Given the description of an element on the screen output the (x, y) to click on. 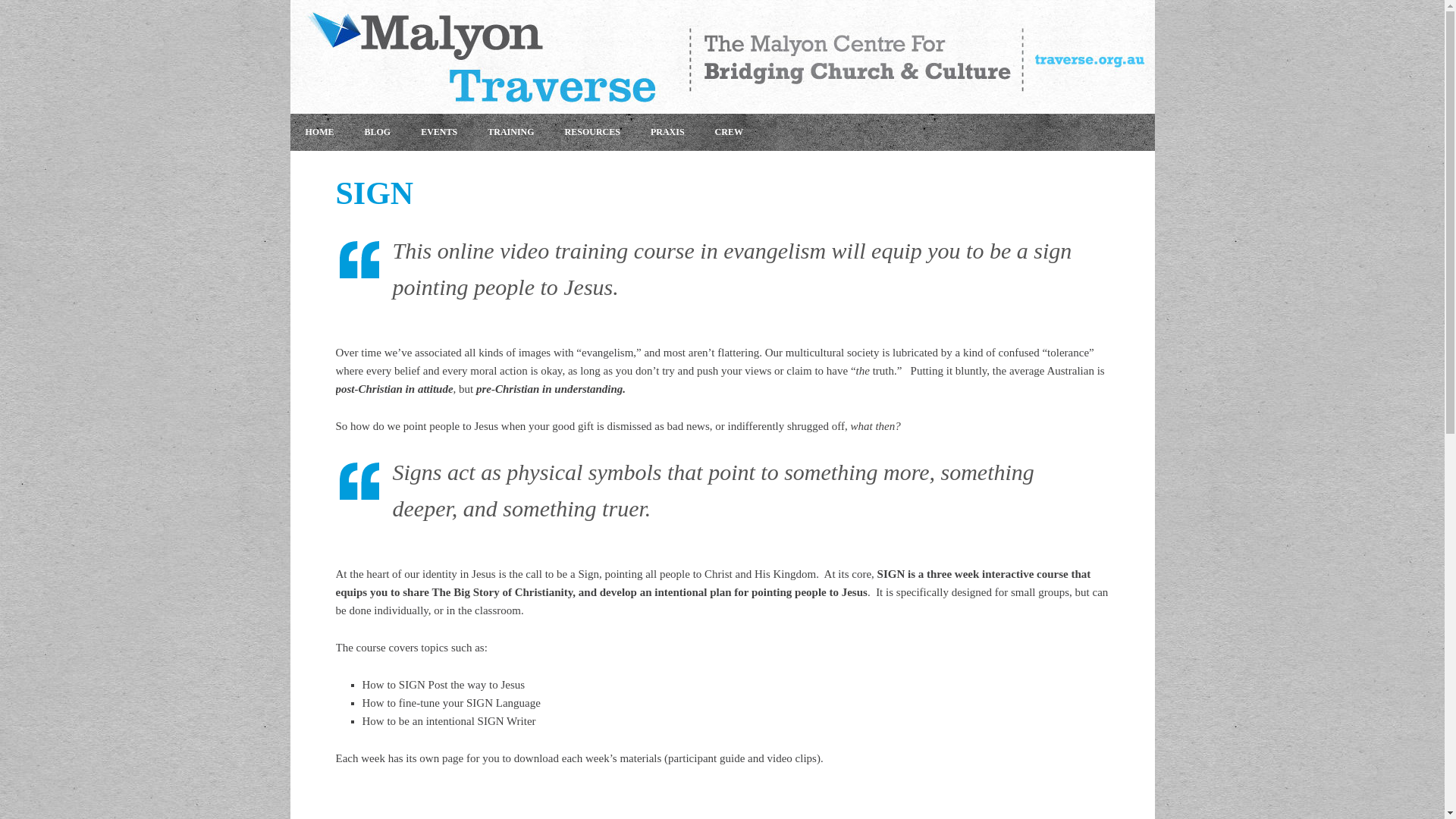
EVENTS Element type: text (438, 131)
Traverse Element type: text (721, 56)
HOME Element type: text (318, 131)
BLOG Element type: text (376, 131)
PRAXIS Element type: text (667, 131)
